Given the description of an element on the screen output the (x, y) to click on. 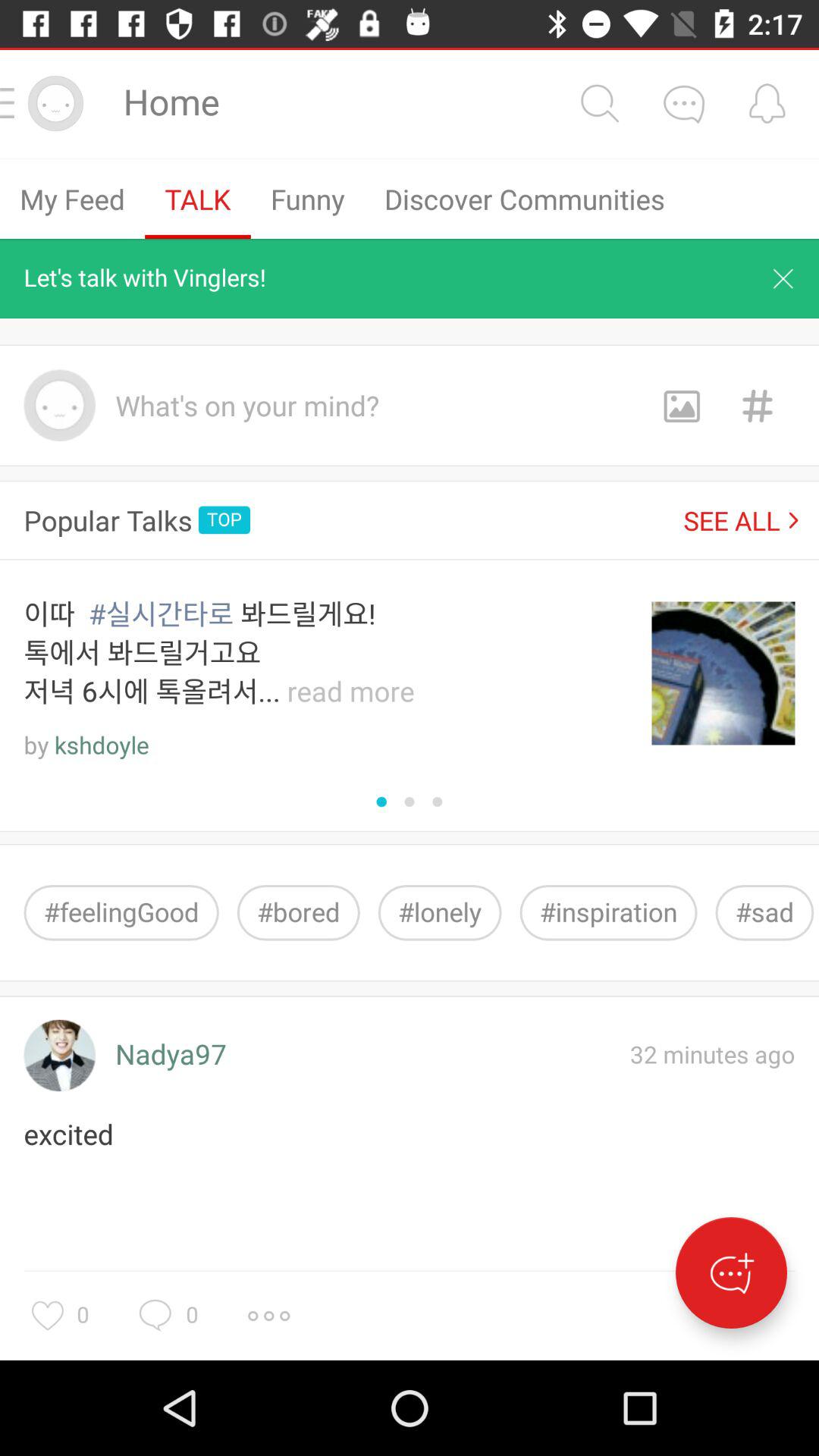
chat option (731, 1272)
